Given the description of an element on the screen output the (x, y) to click on. 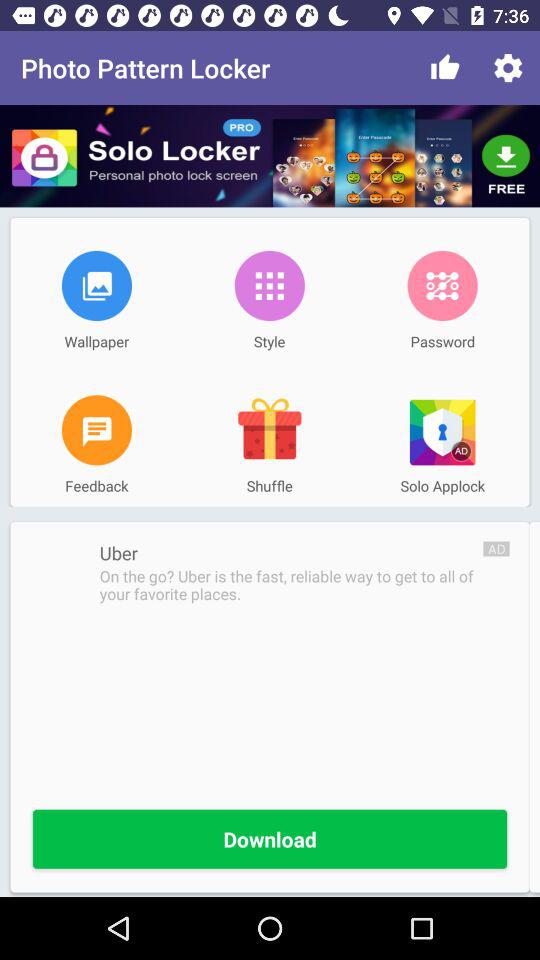
click icon to the right of the style item (442, 285)
